Given the description of an element on the screen output the (x, y) to click on. 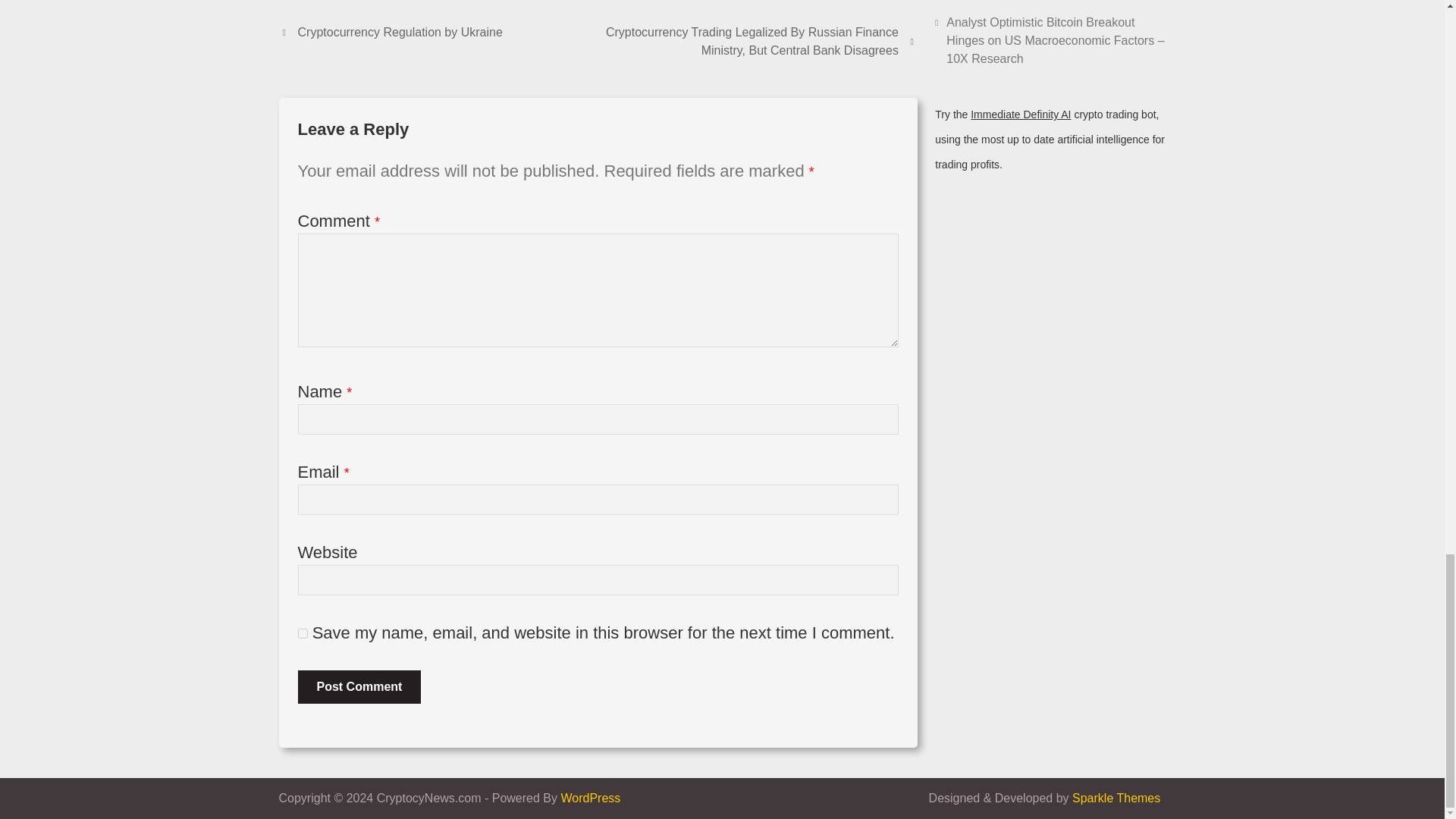
Post Comment (358, 686)
Cryptocurrency Regulation by Ukraine (390, 32)
Post Comment (358, 686)
yes (302, 633)
